Given the description of an element on the screen output the (x, y) to click on. 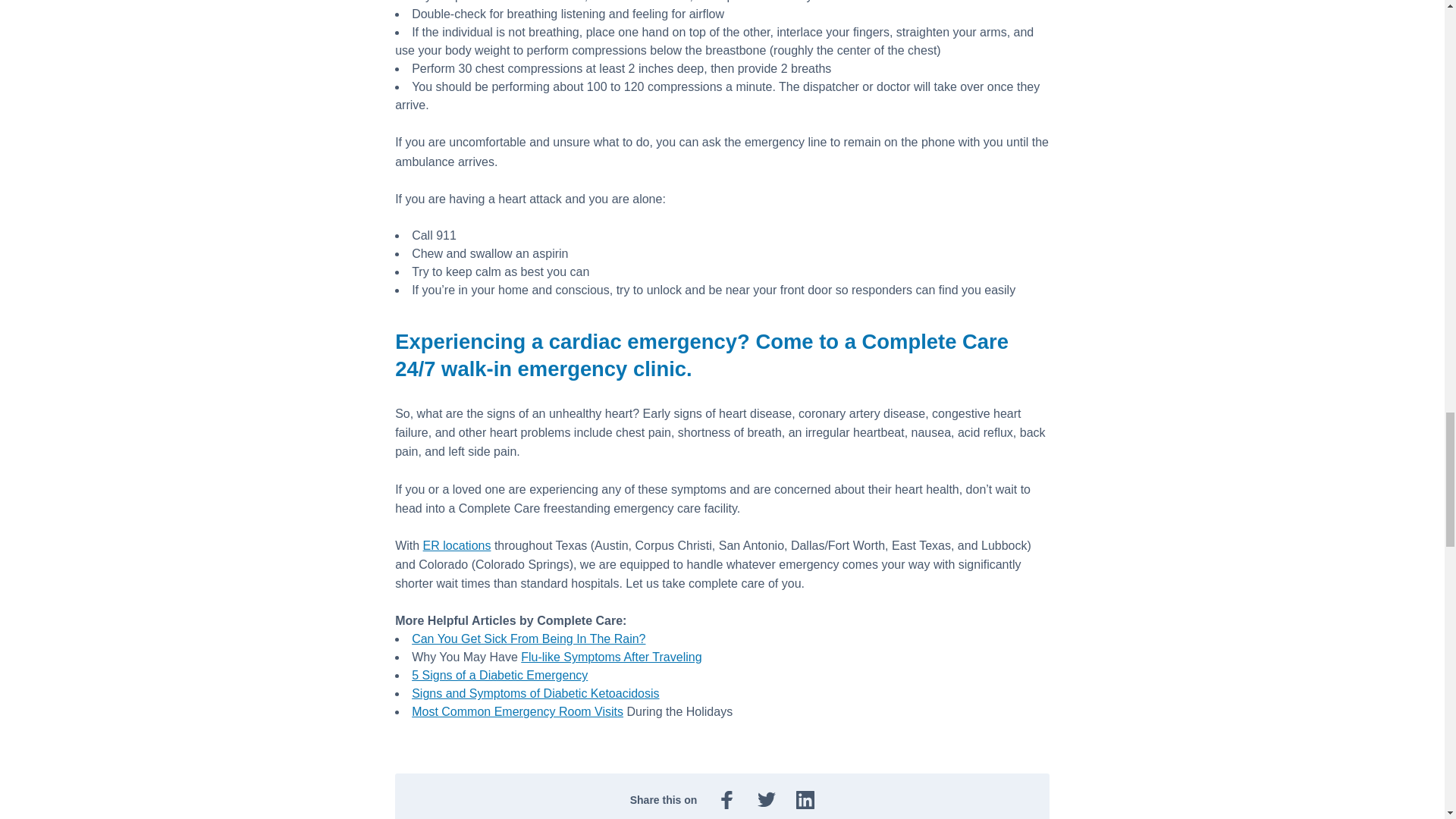
Signs and Symptoms of Diabetic Ketoacidosis (535, 693)
ER locations (457, 545)
5 Signs of a Diabetic Emergency (500, 675)
Most Common Emergency Room Visits (517, 711)
Flu-like Symptoms After Traveling (611, 656)
Can You Get Sick From Being In The Rain? (528, 638)
